Given the description of an element on the screen output the (x, y) to click on. 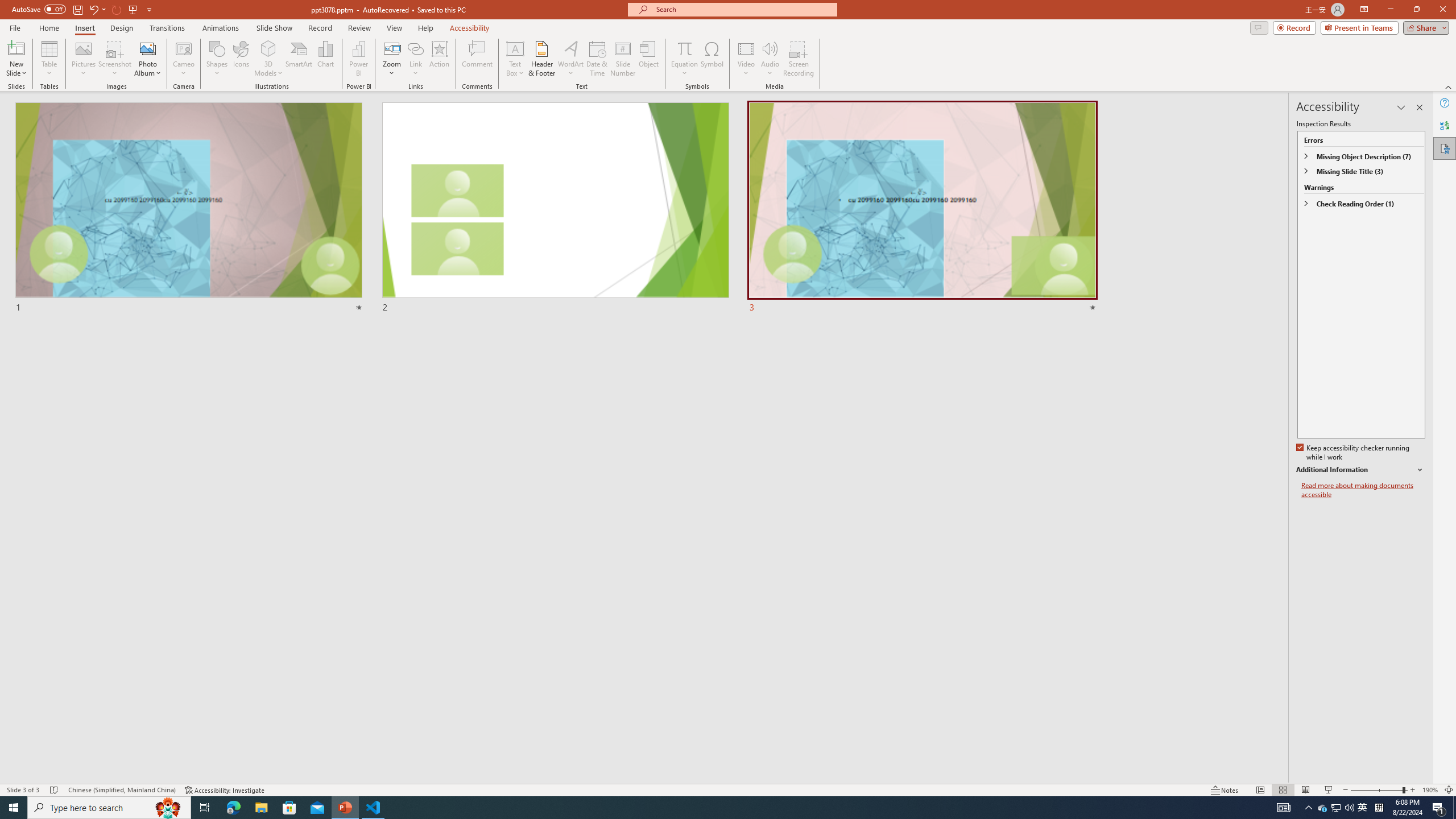
Action (439, 58)
Zoom 190% (1430, 790)
Photo Album... (147, 58)
Keep accessibility checker running while I work (1353, 452)
New Photo Album... (147, 48)
